Given the description of an element on the screen output the (x, y) to click on. 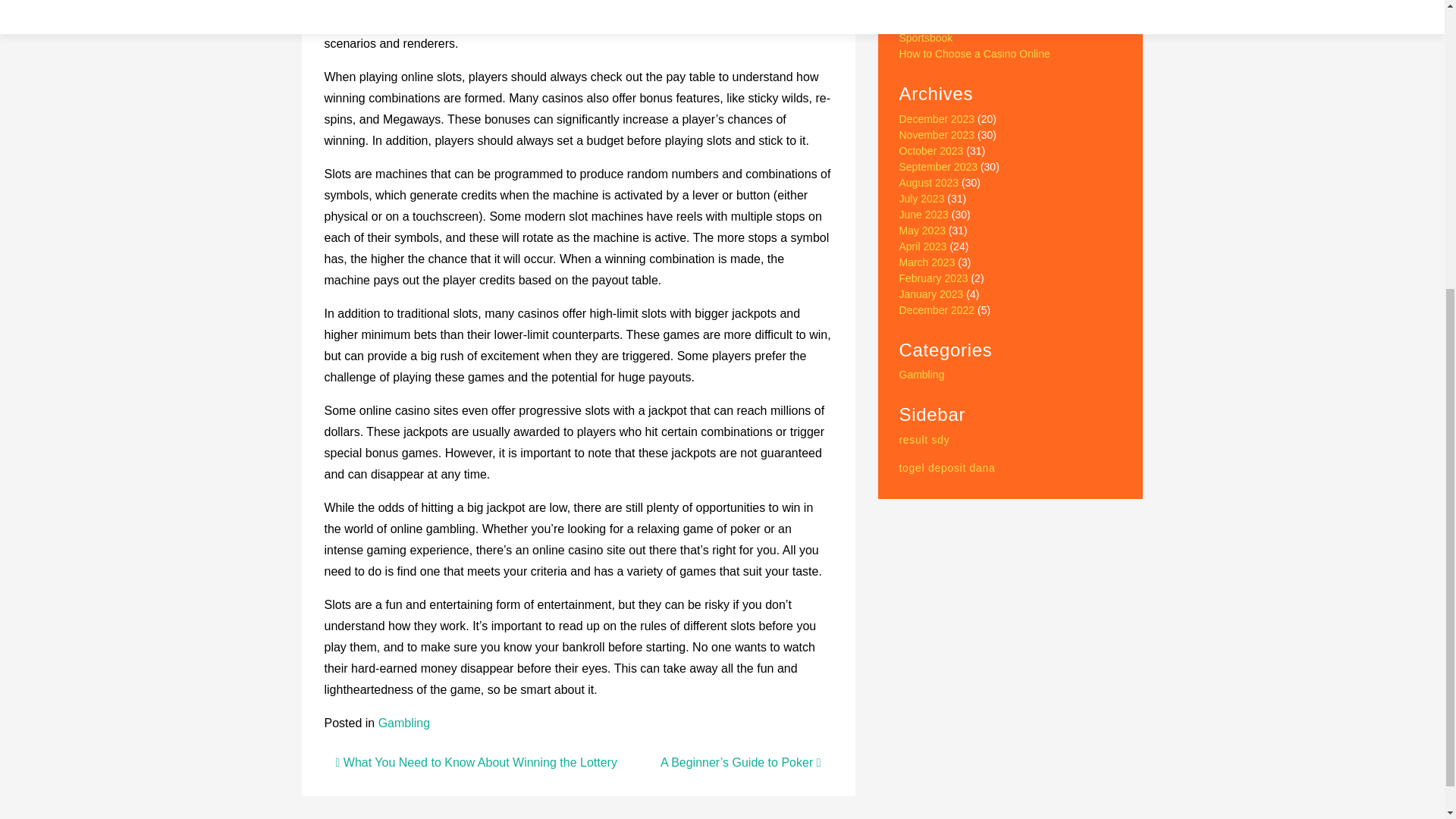
June 2023 (924, 214)
Gambling (921, 374)
February 2023 (933, 277)
April 2023 (923, 246)
Avoid These Mistakes When Betting at a Sportsbook (994, 29)
togel deposit dana (947, 467)
December 2023 (937, 119)
November 2023 (937, 134)
 What You Need to Know About Winning the Lottery (474, 762)
July 2023 (921, 198)
August 2023 (929, 182)
September 2023 (938, 166)
result sdy (924, 439)
March 2023 (927, 262)
January 2023 (931, 294)
